Given the description of an element on the screen output the (x, y) to click on. 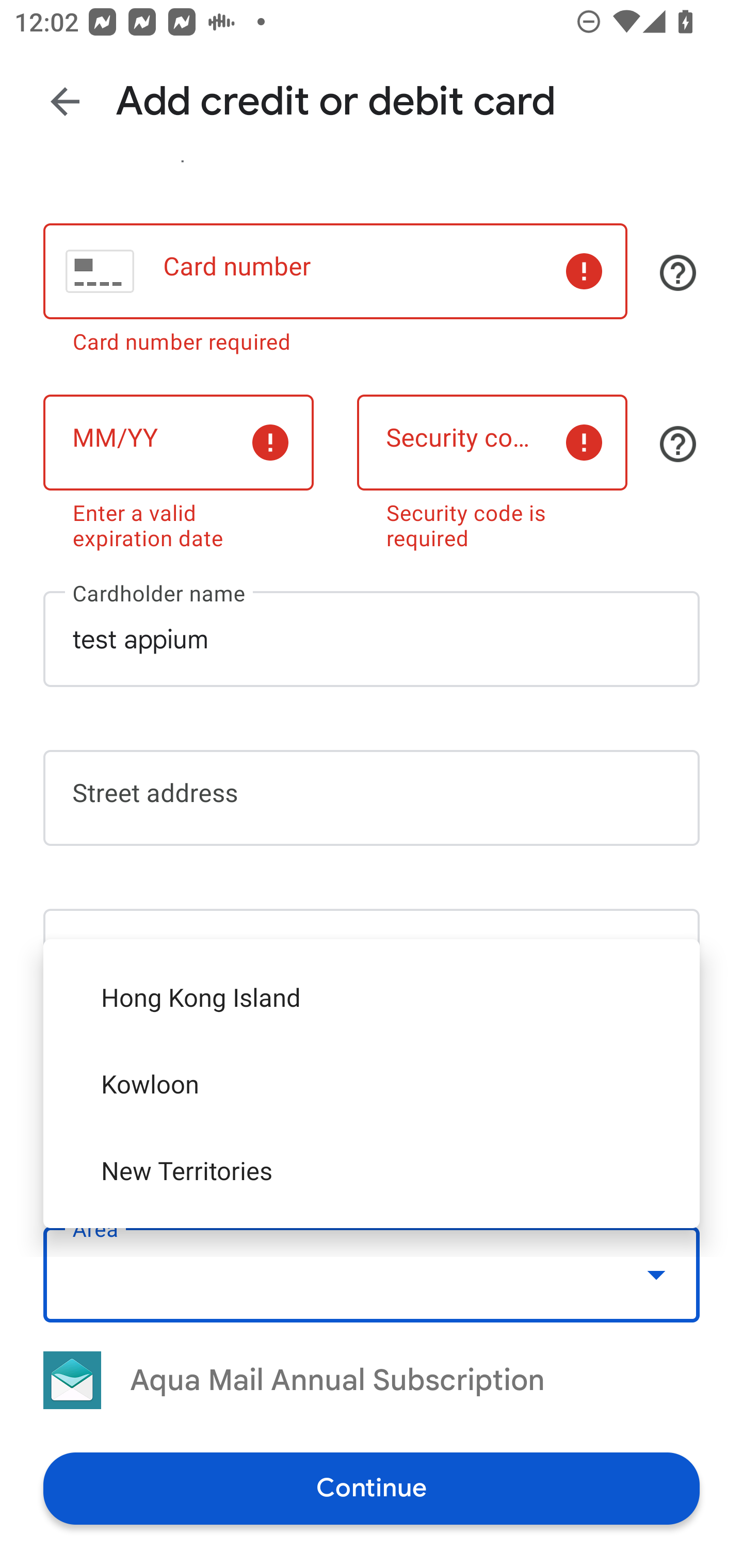
Back (64, 101)
Card number (335, 270)
Button, shows cards that are accepted for payment (677, 272)
Security code Error Security code is required (492, 467)
Expiration date, 2 digit month, 2 digit year (178, 442)
Security code (492, 442)
Security code help (677, 443)
test appium (371, 638)
Street address (371, 797)
Area (371, 1273)
Show dropdown menu (655, 1273)
Continue (371, 1487)
